Given the description of an element on the screen output the (x, y) to click on. 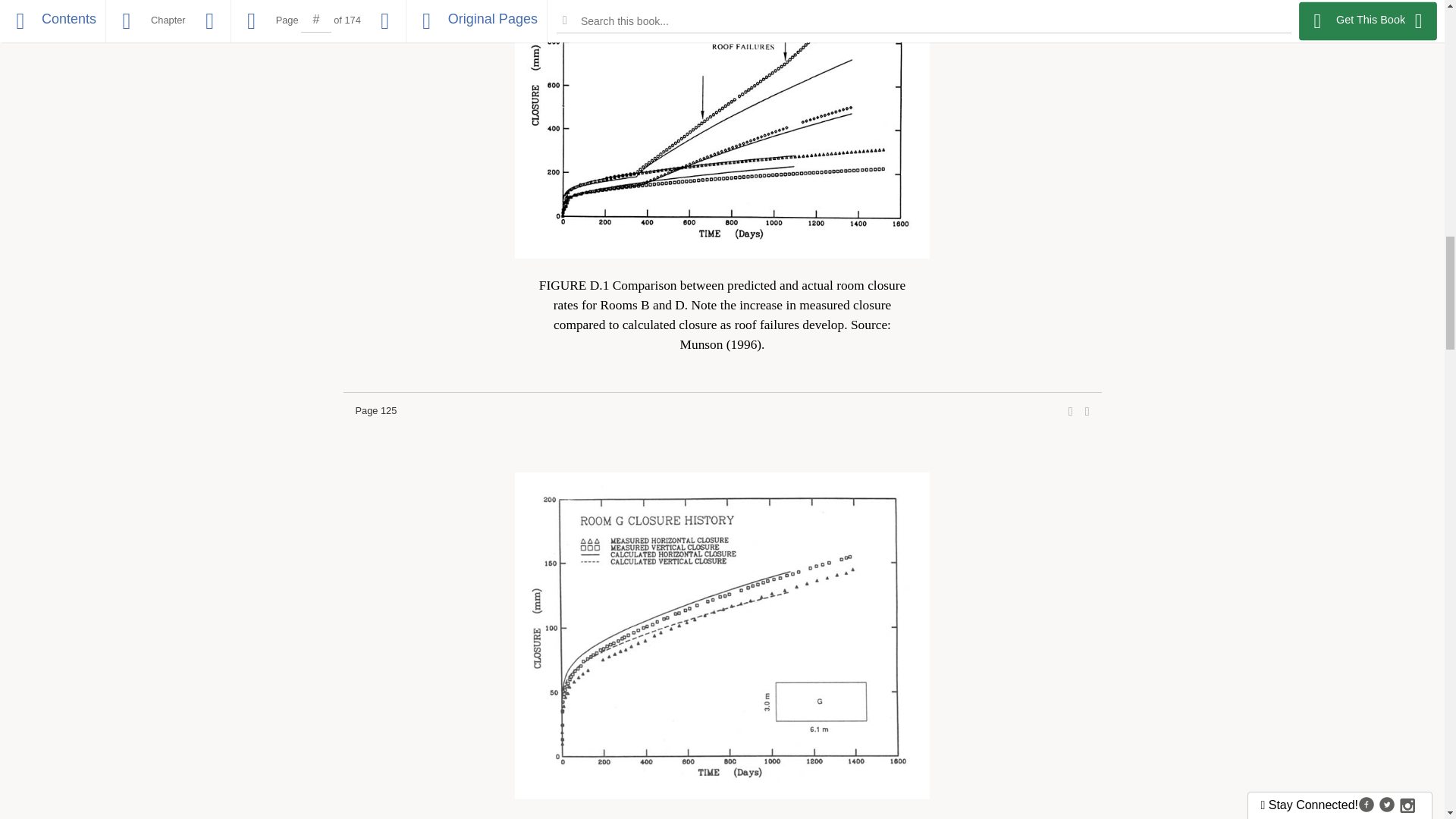
Share this page (1070, 411)
Cite this page (1086, 411)
